Given the description of an element on the screen output the (x, y) to click on. 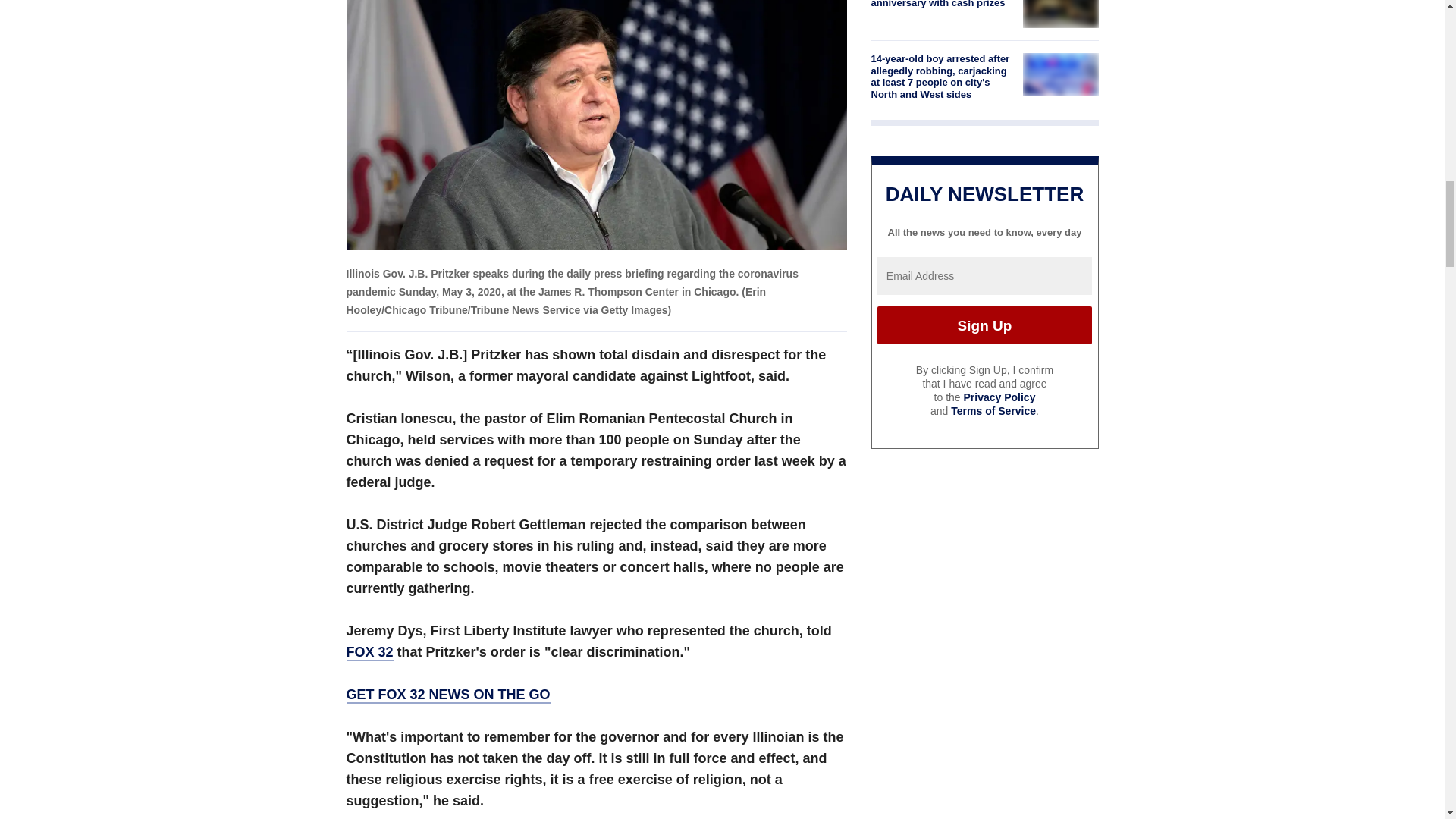
Sign Up (984, 324)
